Given the description of an element on the screen output the (x, y) to click on. 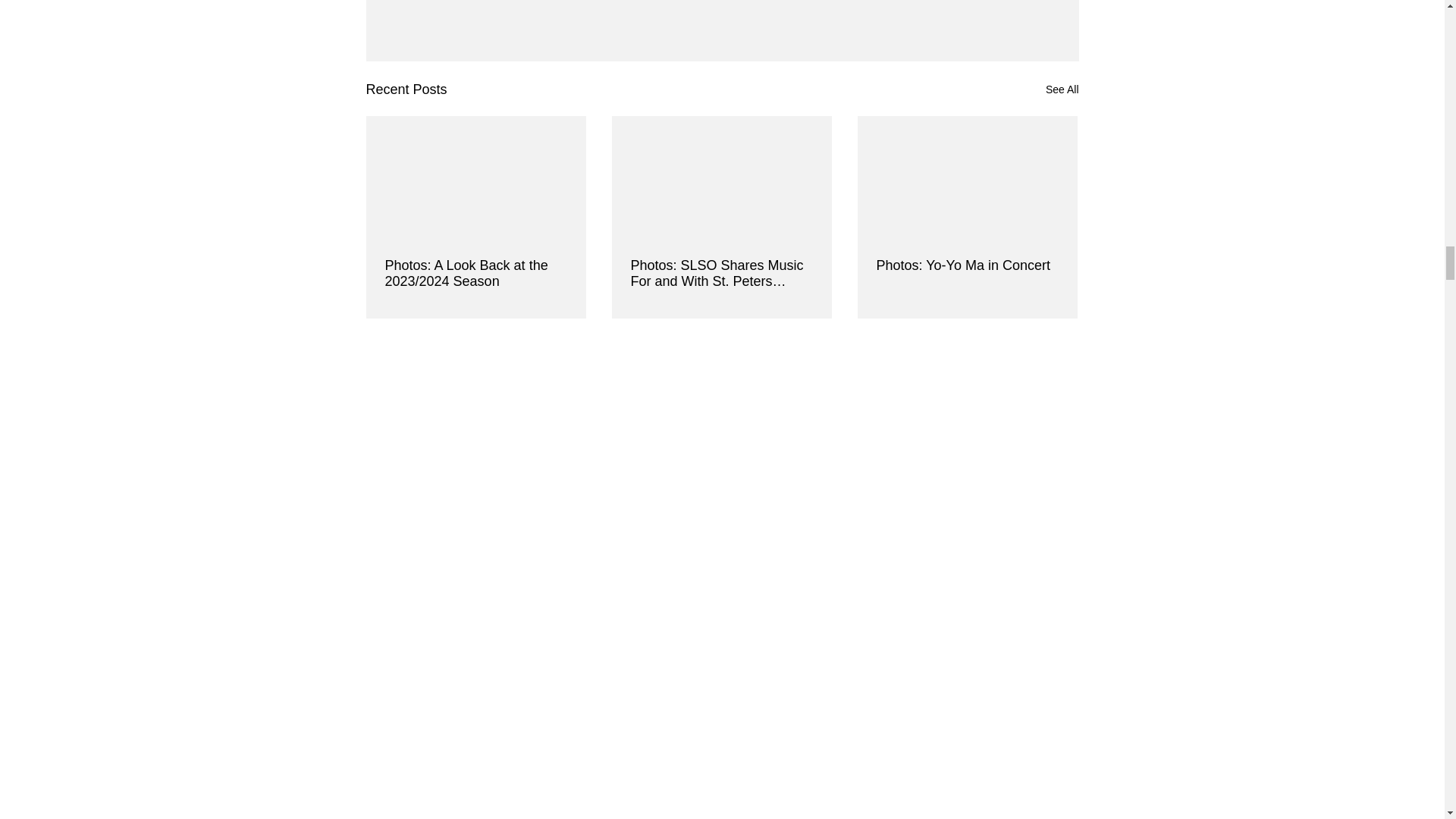
See All (1061, 89)
Photos: SLSO Shares Music For and With St. Peters Community (721, 273)
Photos: Yo-Yo Ma in Concert (967, 265)
